Given the description of an element on the screen output the (x, y) to click on. 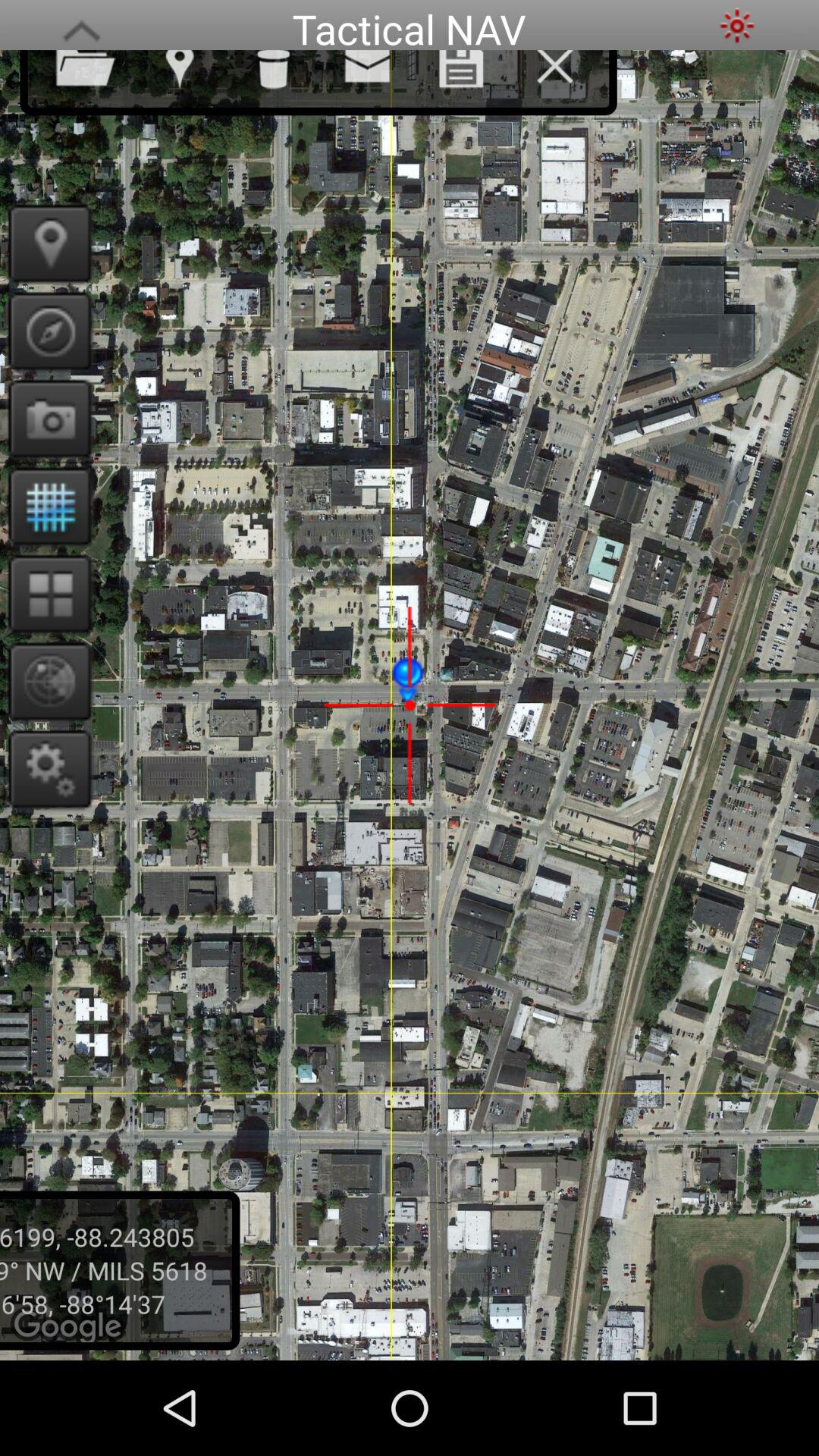
take screenshot (45, 418)
